Given the description of an element on the screen output the (x, y) to click on. 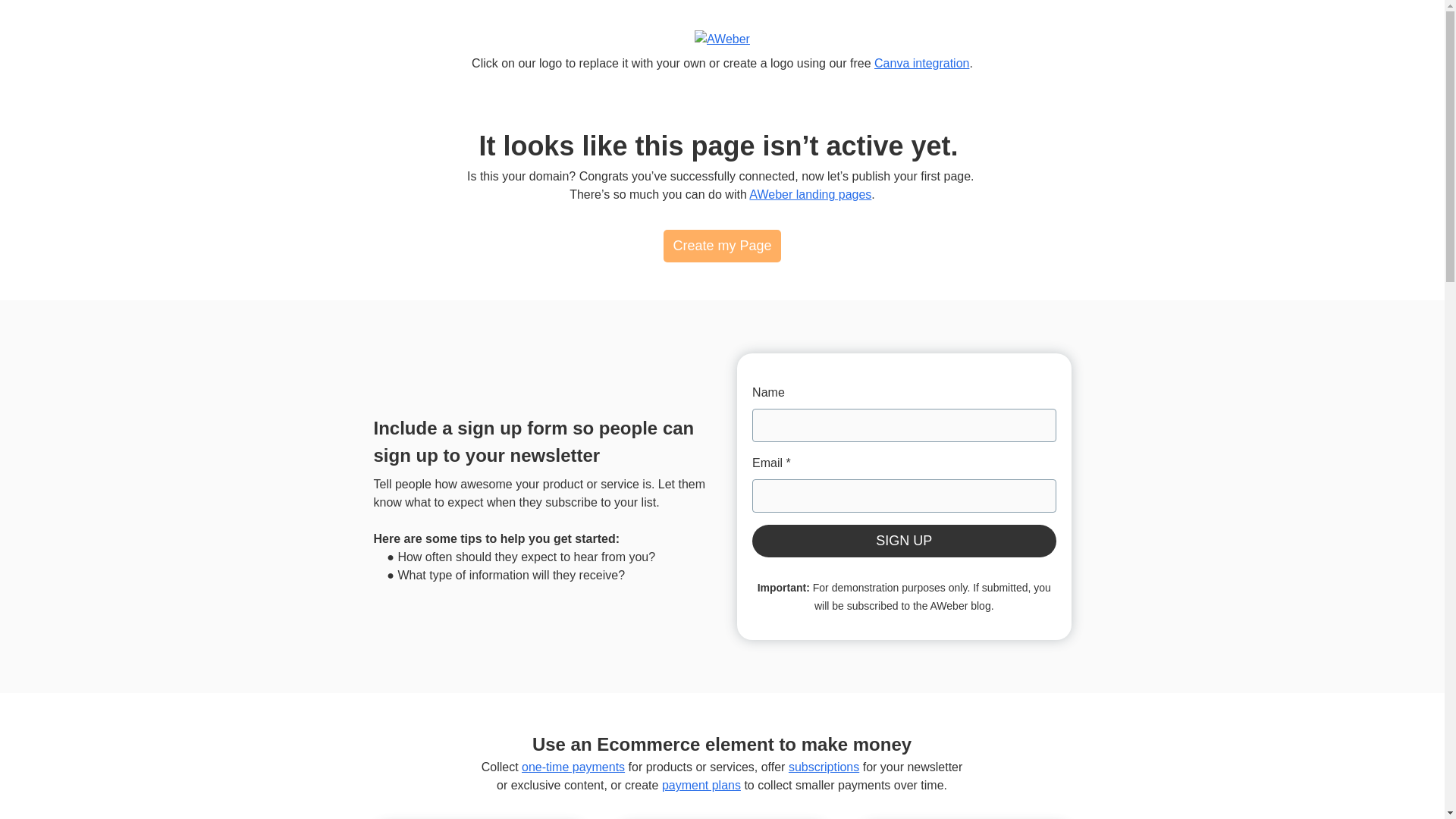
one-time payments (572, 766)
AWeber landing pages (809, 194)
SIGN UP (903, 540)
Create my Page (721, 246)
subscriptions (824, 766)
payment plans (701, 784)
Canva integration (922, 62)
